Given the description of an element on the screen output the (x, y) to click on. 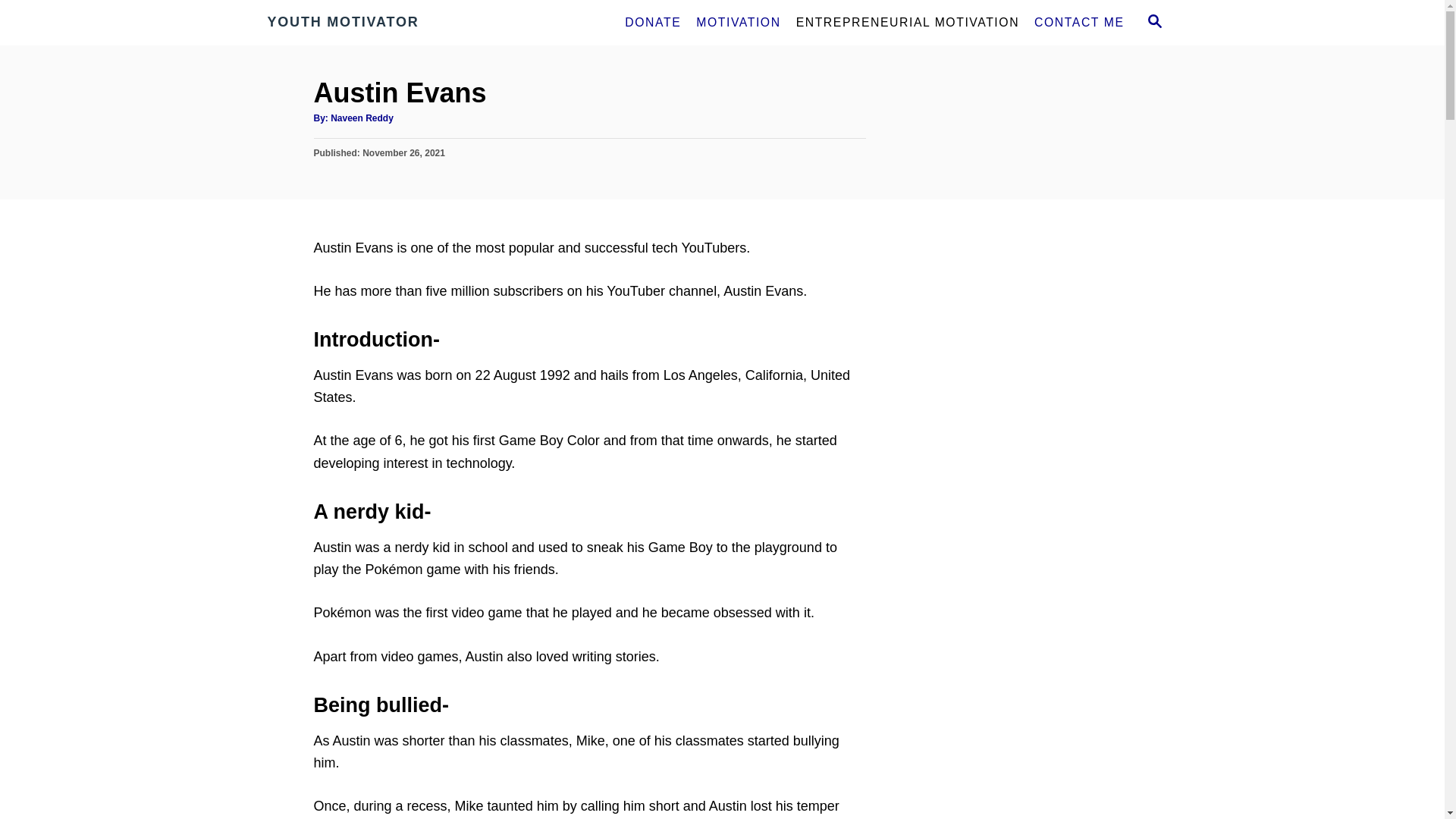
Youth Motivator (403, 22)
YOUTH MOTIVATOR (403, 22)
SEARCH (1153, 22)
ENTREPRENEURIAL MOTIVATION (907, 22)
DONATE (652, 22)
MOTIVATION (737, 22)
Naveen Reddy (361, 118)
CONTACT ME (1078, 22)
